Given the description of an element on the screen output the (x, y) to click on. 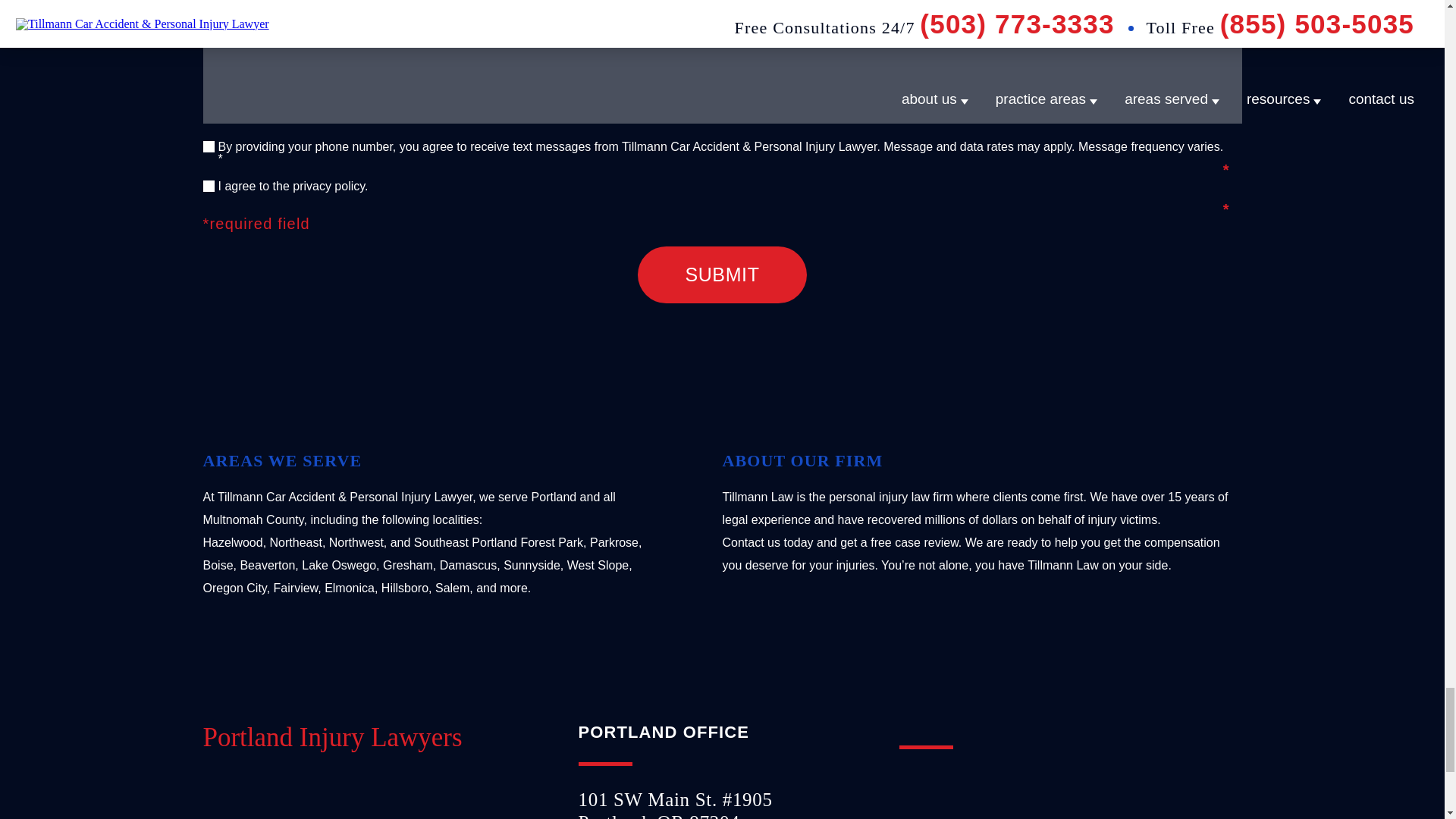
1 (208, 146)
Submit (721, 274)
1 (208, 185)
